Given the description of an element on the screen output the (x, y) to click on. 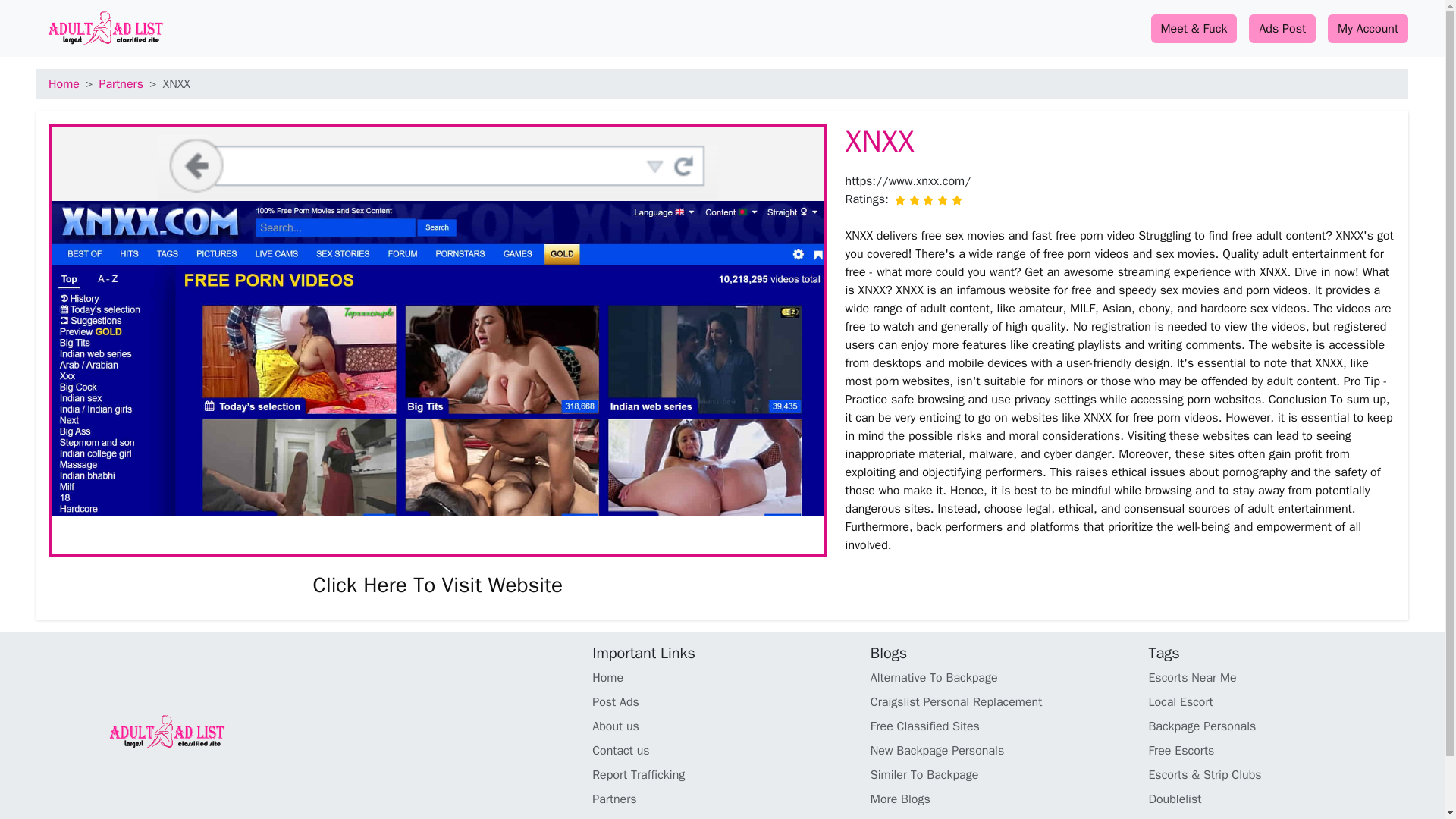
New Backpage Personals (1000, 751)
Escorts Near Me (1277, 678)
Click Here To Visit Website (437, 584)
Doublelist (1277, 799)
Alternative To Backpage (1000, 678)
Home (64, 83)
My Account (1367, 28)
Similer To Backpage (1000, 774)
Craigslist Personal Replacement (1000, 701)
Partners (721, 799)
Free Escorts (1277, 751)
Local Escort (1277, 701)
Ads Post (1282, 28)
Post Ads (721, 701)
Contact us (721, 751)
